Given the description of an element on the screen output the (x, y) to click on. 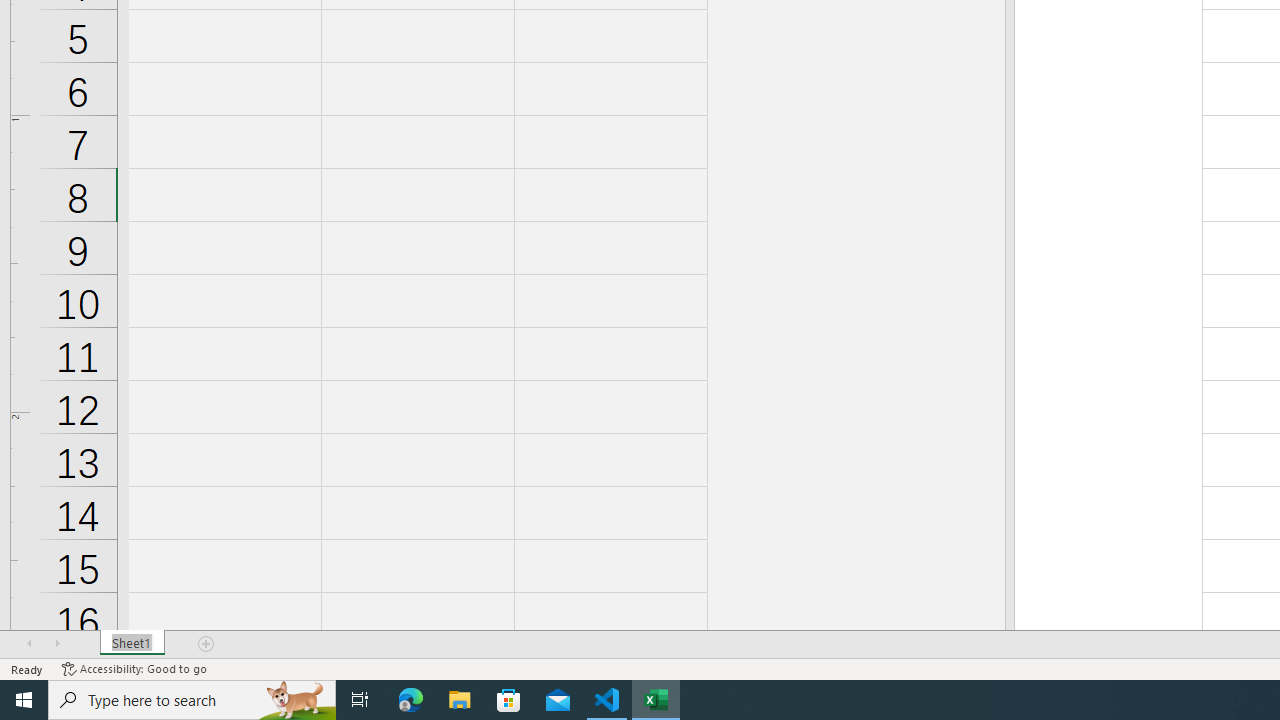
Scroll Right (57, 644)
Sheet Tab (132, 644)
Scroll Left (29, 644)
Accessibility Checker Accessibility: Good to go (134, 668)
Sheet1 (132, 644)
Add Sheet (207, 644)
